Given the description of an element on the screen output the (x, y) to click on. 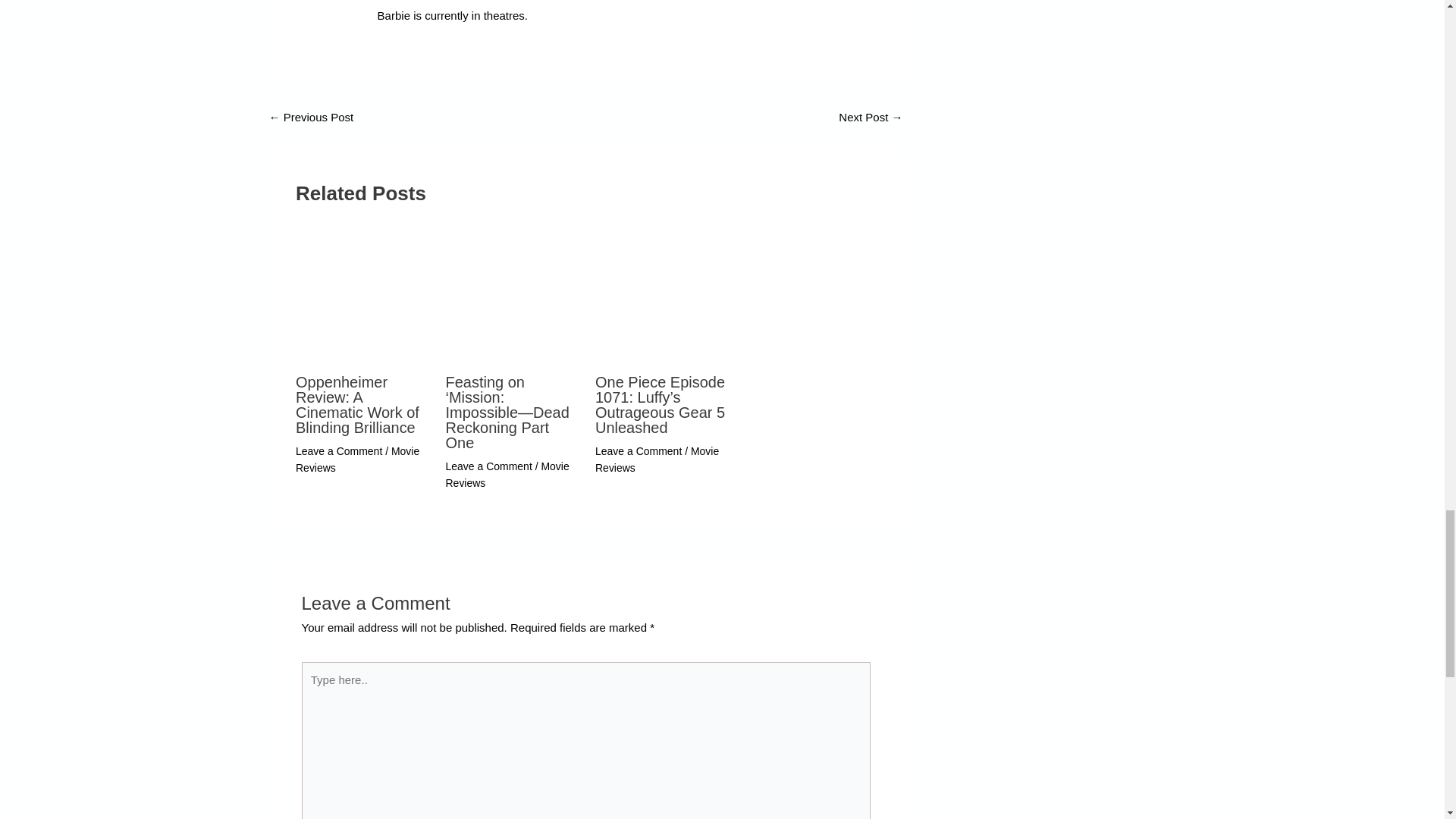
Oppenheimer Review: A Cinematic Work of Blinding Brilliance (357, 404)
Oppenheimer Review: A Cinematic Work of Blinding Brilliance (310, 116)
